Given the description of an element on the screen output the (x, y) to click on. 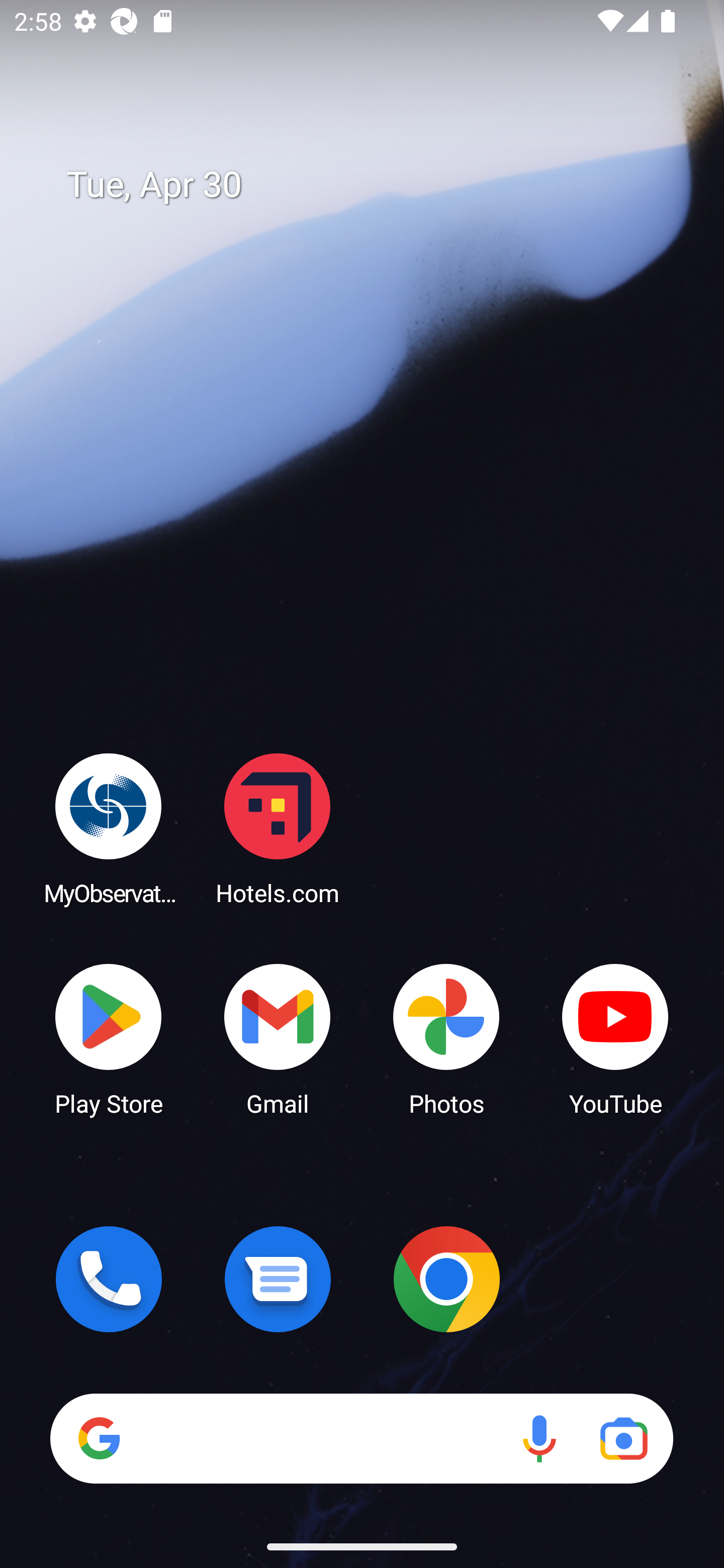
Tue, Apr 30 (375, 184)
MyObservatory (108, 828)
Hotels.com (277, 828)
Play Store (108, 1038)
Gmail (277, 1038)
Photos (445, 1038)
YouTube (615, 1038)
Phone (108, 1279)
Messages (277, 1279)
Chrome (446, 1279)
Voice search (539, 1438)
Google Lens (623, 1438)
